Given the description of an element on the screen output the (x, y) to click on. 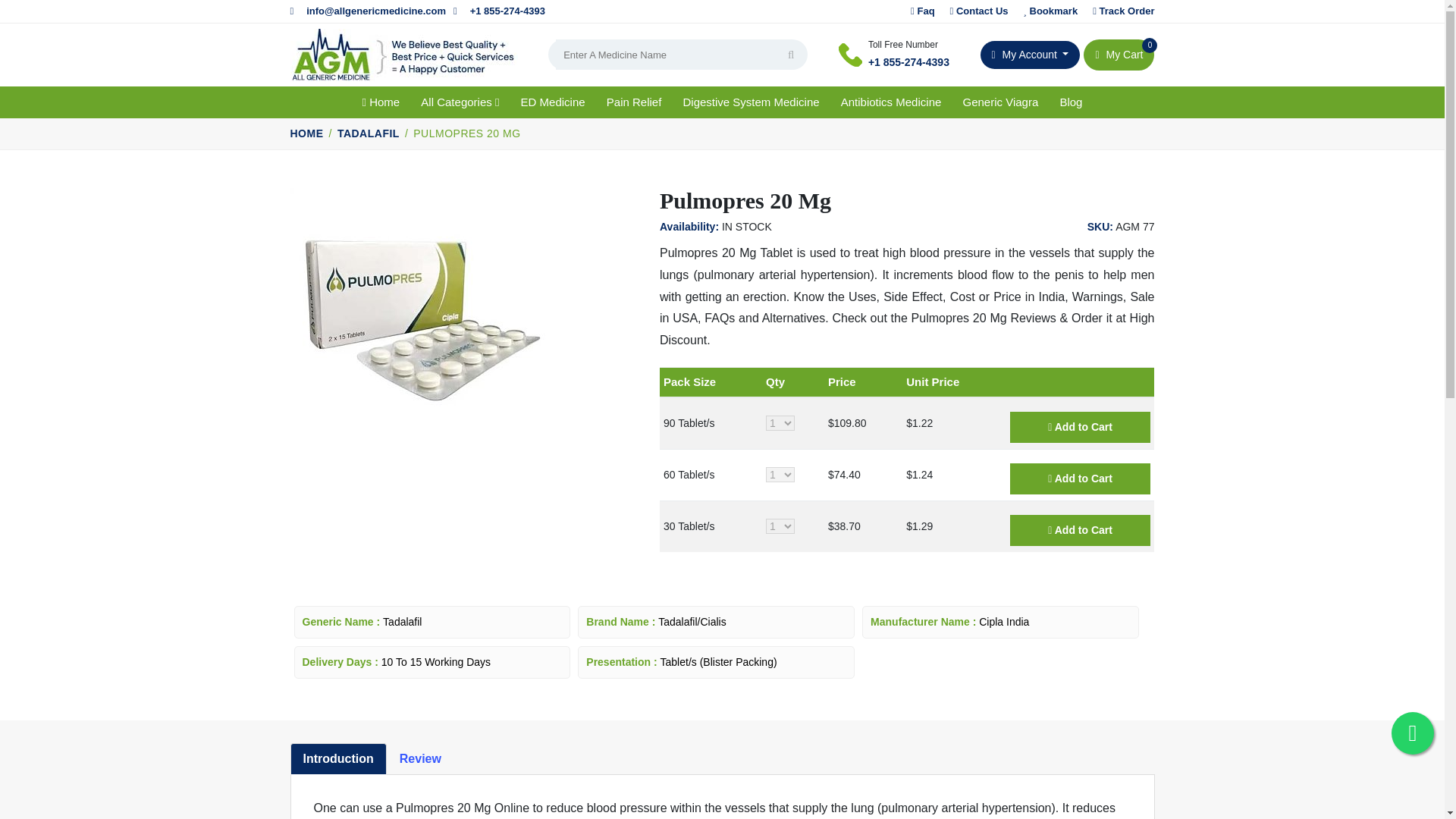
All Categories (460, 102)
Home (381, 102)
Bookmark (1118, 54)
Track Order (1050, 10)
My Account (1123, 10)
Contact Us (1029, 54)
Faq (979, 10)
